Given the description of an element on the screen output the (x, y) to click on. 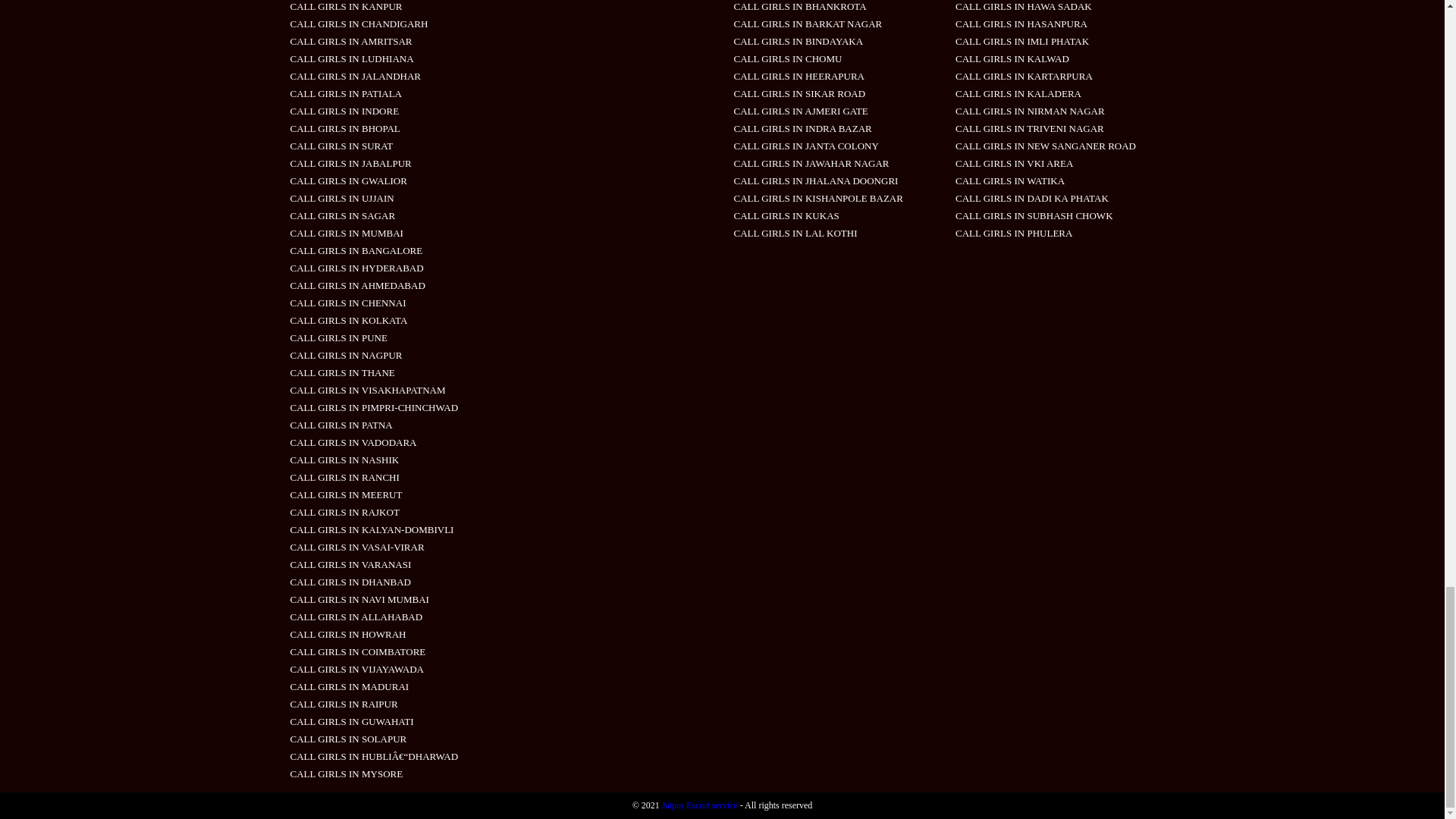
CALL GIRLS IN CHANDIGARH (358, 23)
CALL GIRLS IN KANPUR (345, 6)
CALL GIRLS IN AMRITSAR (350, 41)
